Given the description of an element on the screen output the (x, y) to click on. 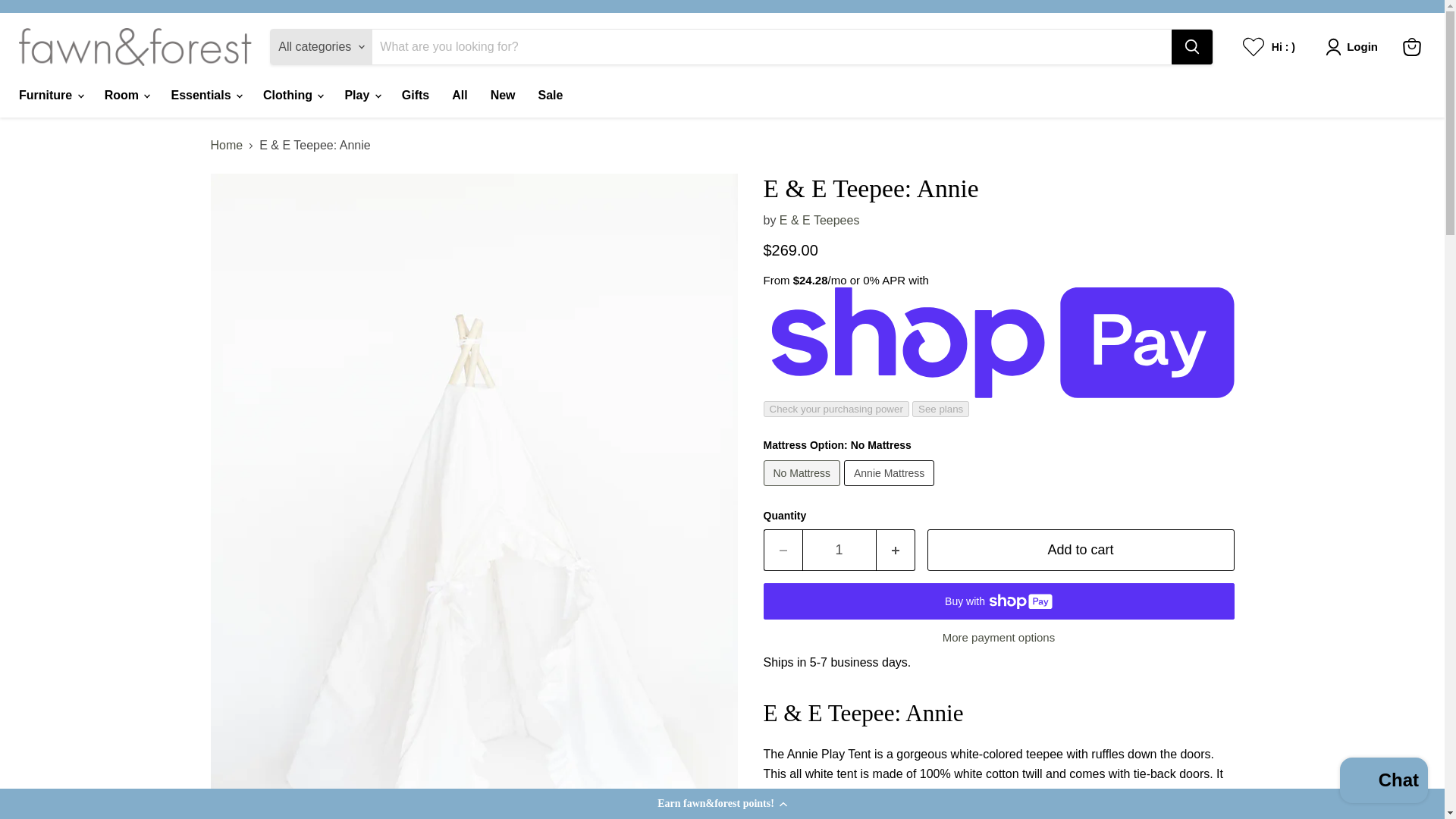
Login (1354, 46)
1 (839, 549)
View cart (1411, 46)
Shopify online store chat (1383, 781)
